Given the description of an element on the screen output the (x, y) to click on. 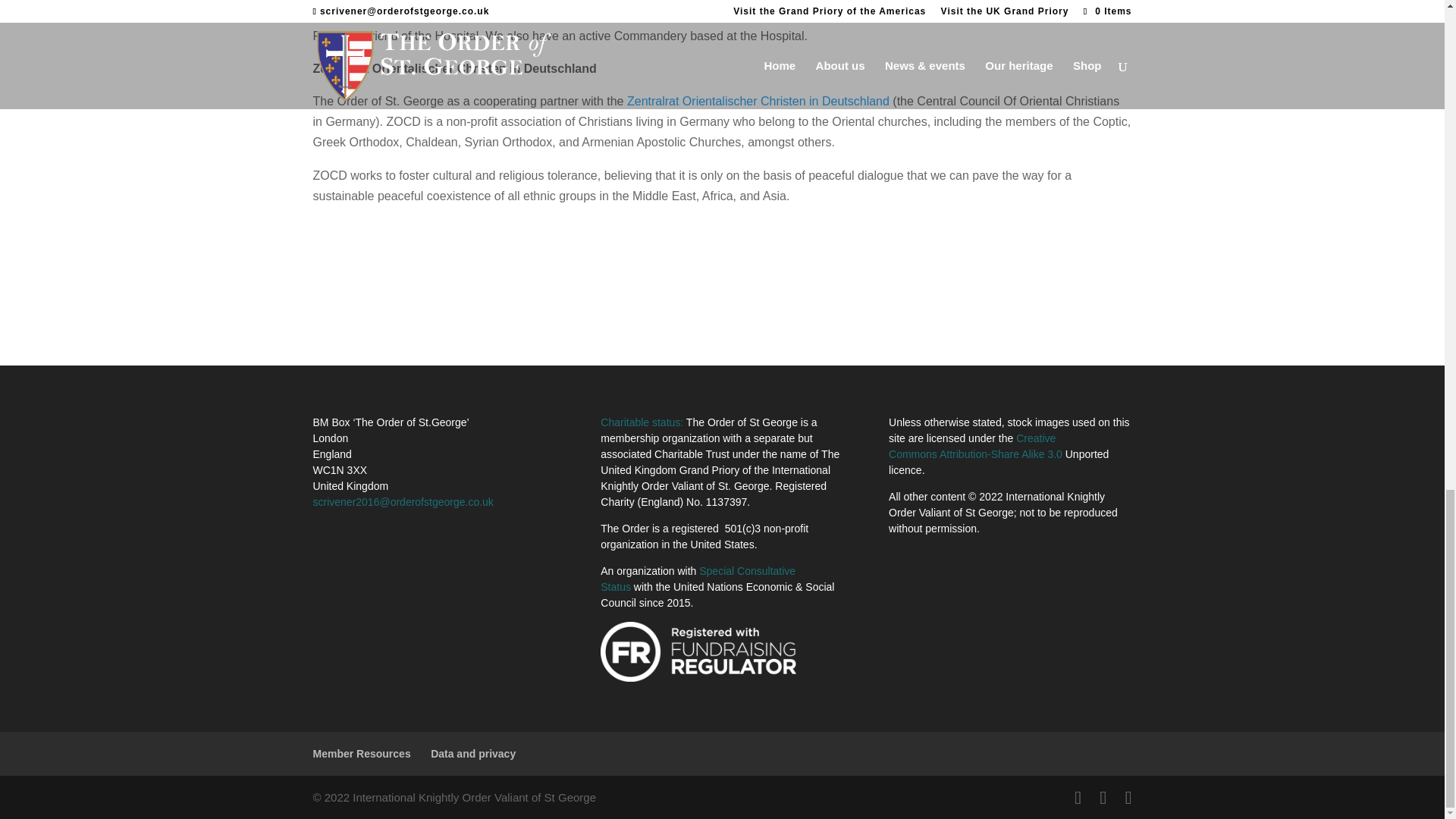
Data and privacy (472, 753)
Member Resources (361, 753)
Zentralrat Orientalischer Christen in Deutschland (758, 101)
Charitable status: (640, 422)
Attribution-Share Alike 3.0 (1000, 453)
Creative Commons (971, 446)
Special Consultative Status (696, 578)
